Given the description of an element on the screen output the (x, y) to click on. 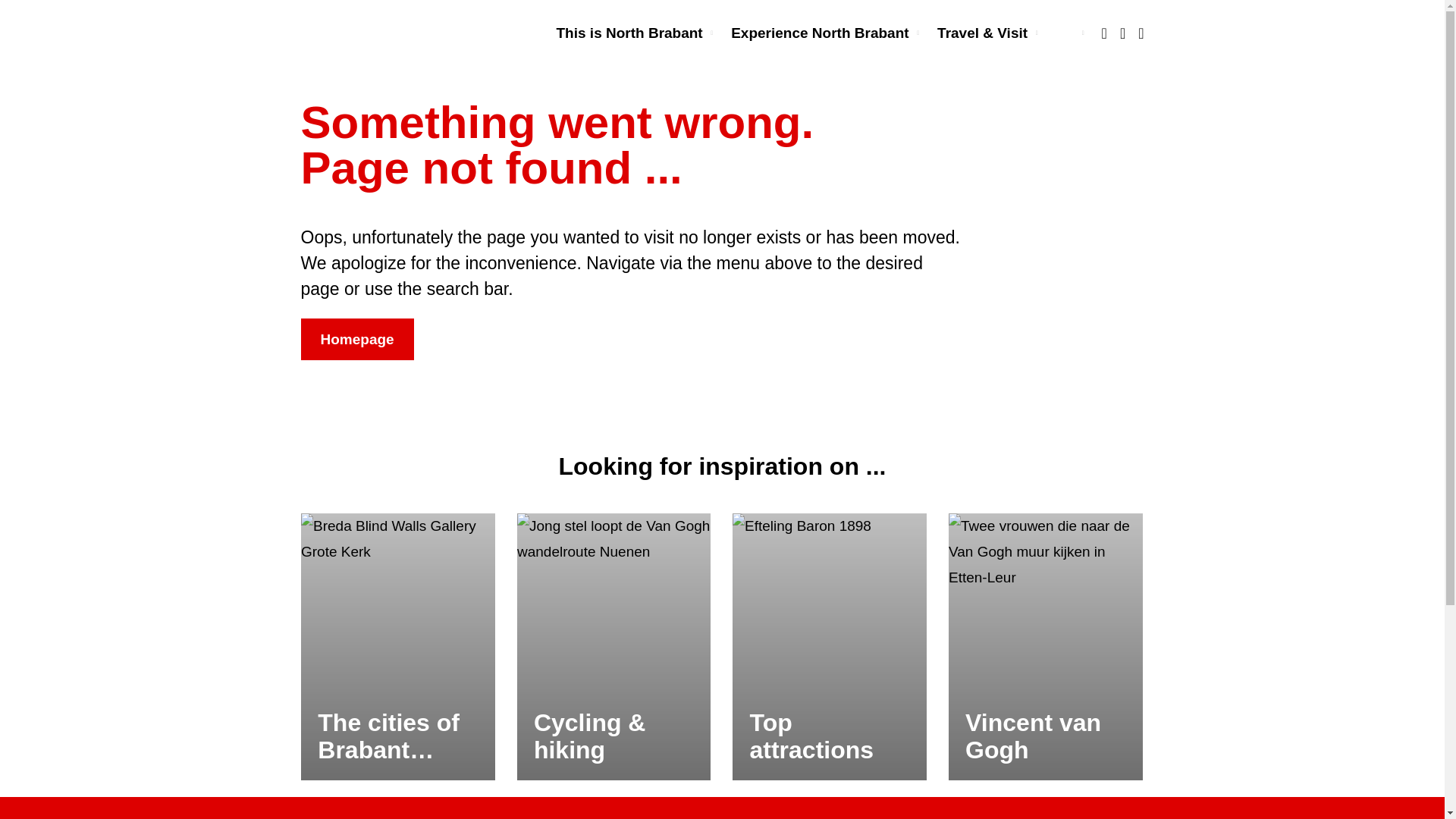
Homepage (356, 339)
Experience North Brabant (825, 33)
This is North Brabant (634, 33)
Go to the homepage (341, 33)
